Given the description of an element on the screen output the (x, y) to click on. 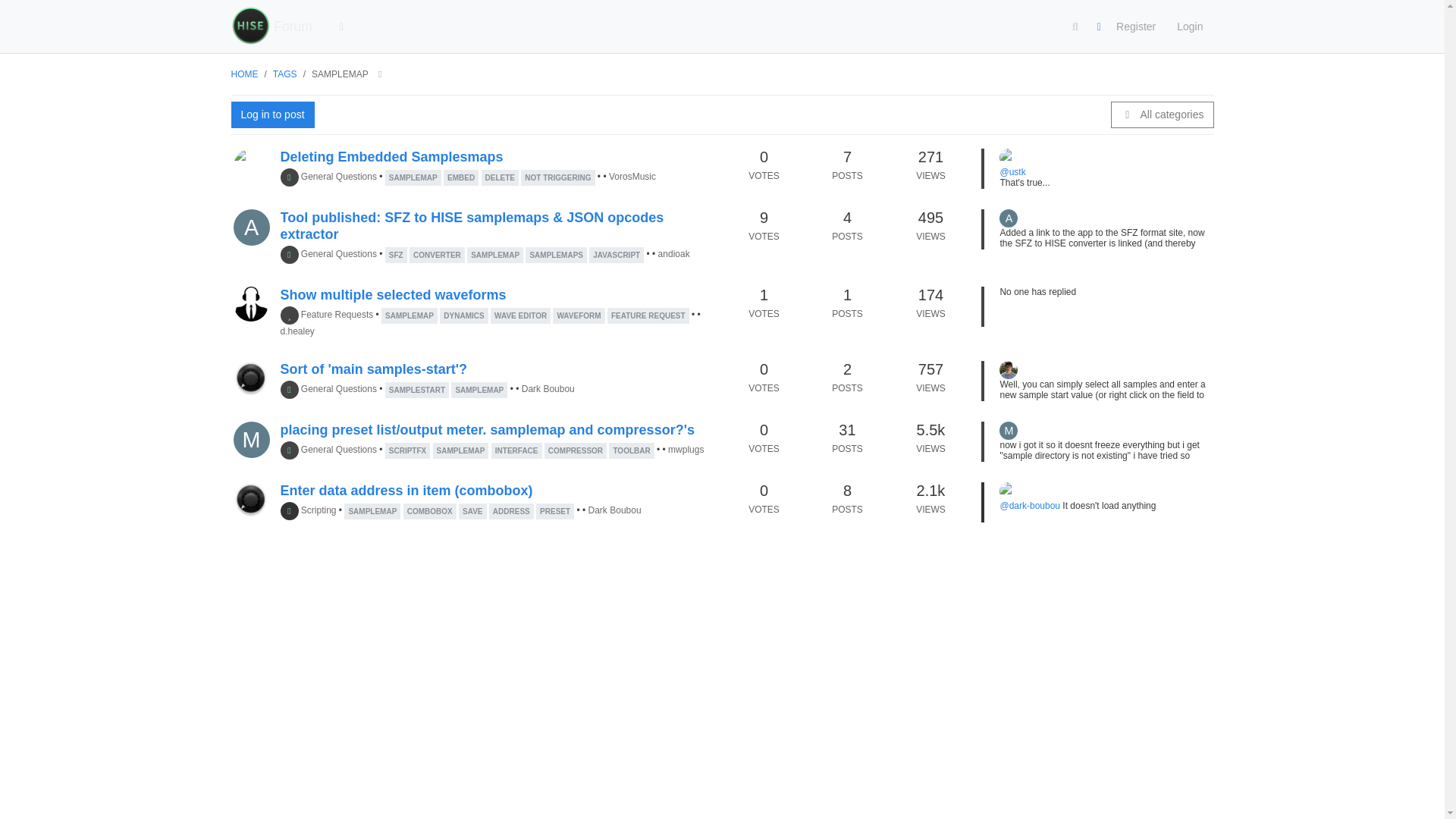
VorosMusic (1007, 157)
andioak (250, 227)
Deleting Embedded Samplesmaps (392, 156)
SFZ (396, 254)
NOT TRIGGERING (557, 176)
SAMPLEMAP (413, 176)
General Questions (339, 176)
VorosMusic (249, 165)
Register (1135, 26)
DELETE (499, 176)
